Given the description of an element on the screen output the (x, y) to click on. 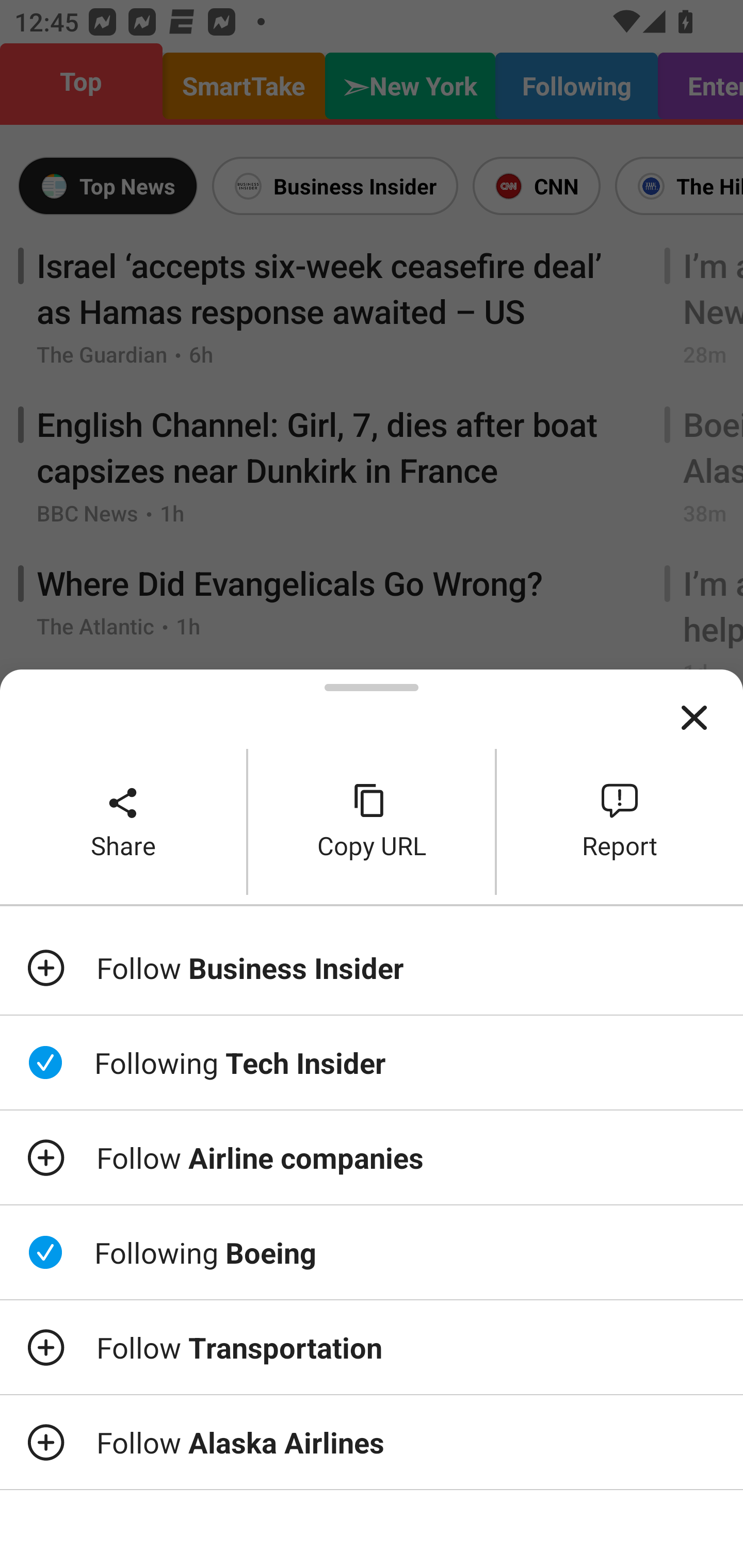
Close (694, 717)
Share (122, 822)
Copy URL (371, 822)
Report (620, 822)
Follow Business Insider (371, 967)
Following Tech Insider (371, 1063)
Follow Airline companies (371, 1157)
Following Boeing (371, 1252)
Follow Transportation (371, 1346)
Follow Alaska Airlines (371, 1442)
